Given the description of an element on the screen output the (x, y) to click on. 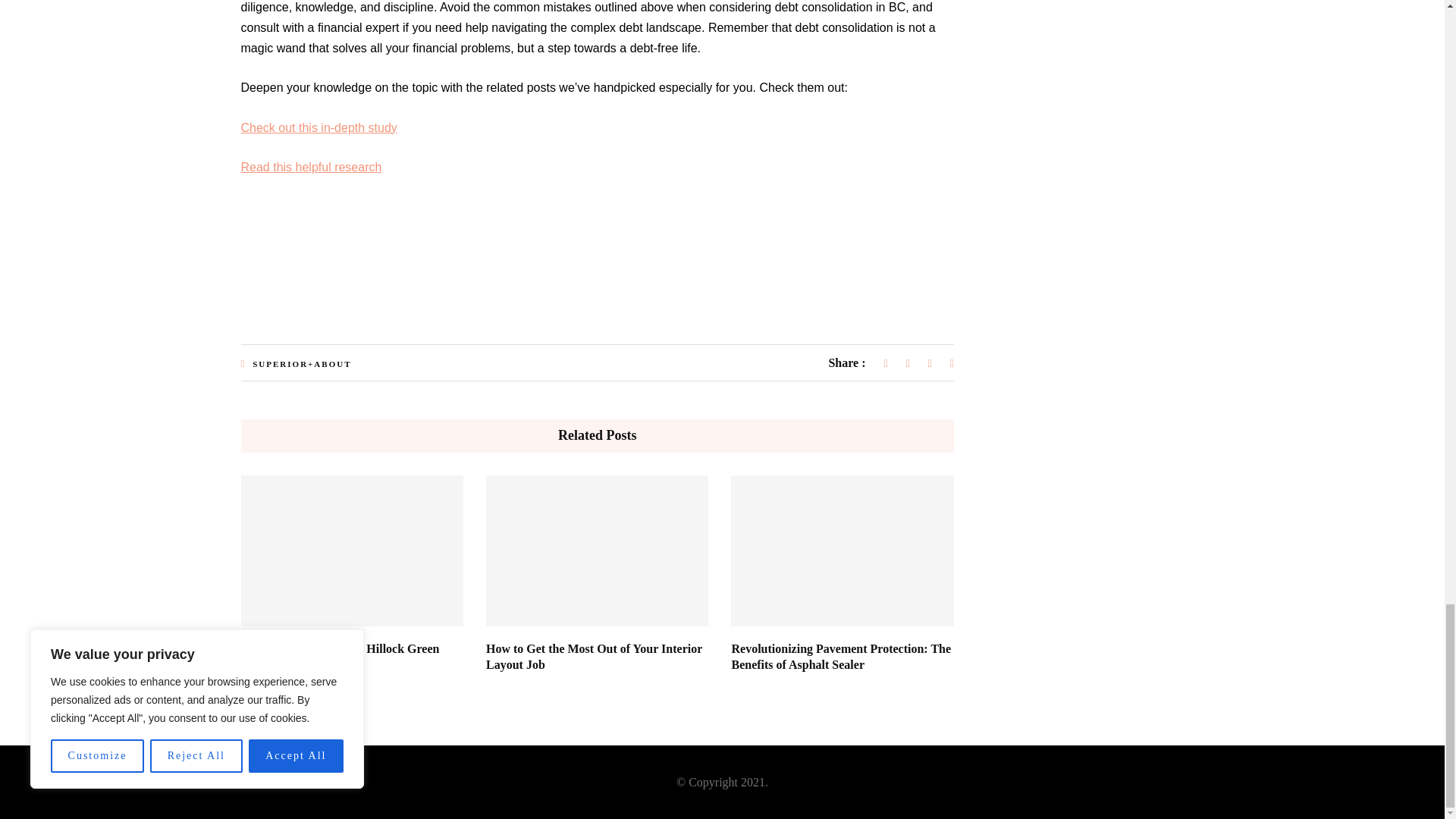
Read this helpful research (311, 166)
How to Get the Most Out of Your Interior Layout Job (593, 656)
The Beauty of Living in Hillock Green Condominium (340, 656)
Check out this in-depth study (319, 127)
